Given the description of an element on the screen output the (x, y) to click on. 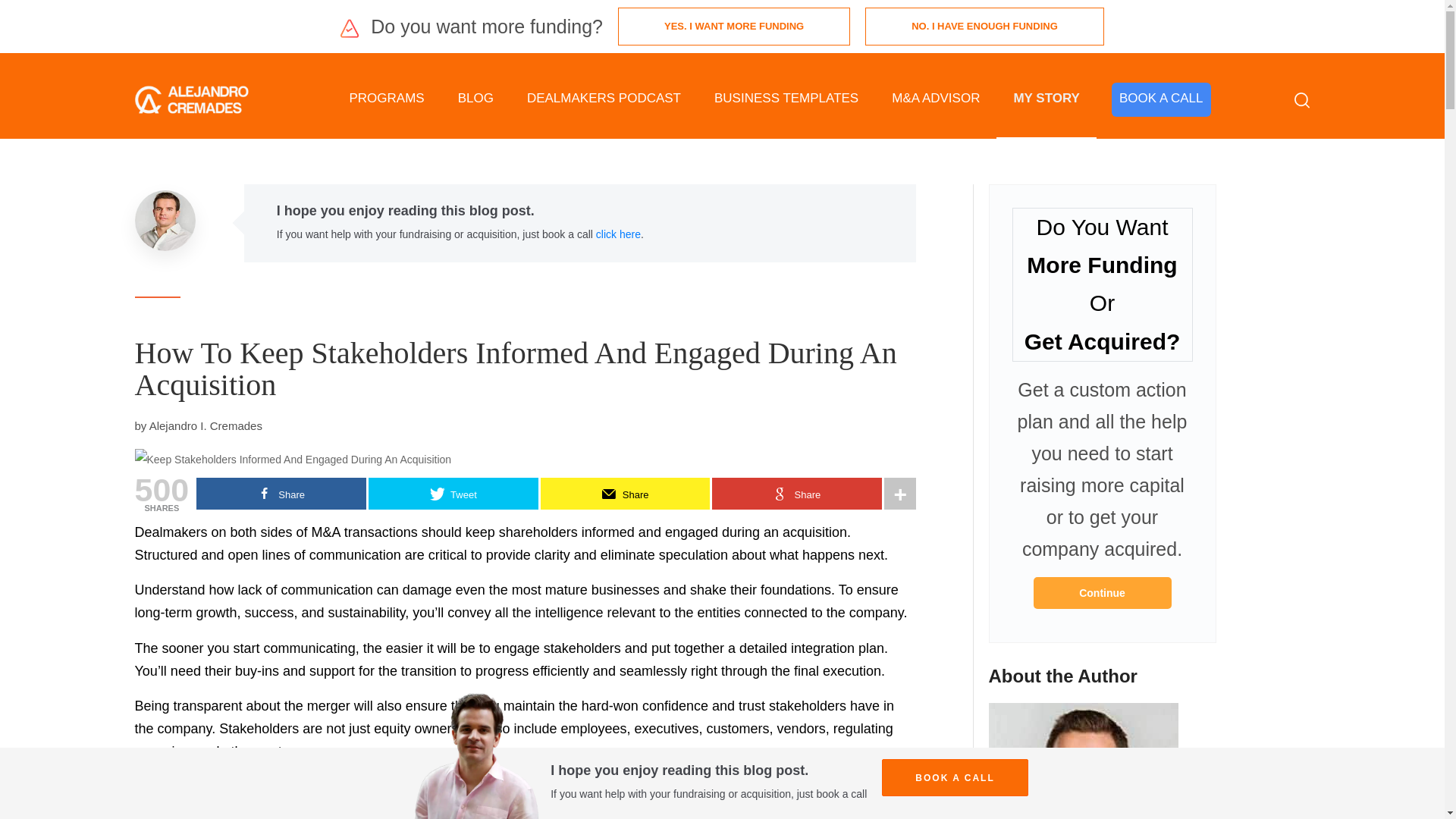
Art of Startup Fundraising (1101, 593)
BOOK A CALL (1161, 99)
click here (617, 234)
BUSINESS TEMPLATES (786, 99)
Share (796, 493)
PROGRAMS (386, 99)
NO. I HAVE ENOUGH FUNDING (983, 26)
DEALMAKERS PODCAST (604, 99)
Share (625, 493)
Share (281, 493)
MY STORY (1045, 99)
Tweet (453, 493)
Alejandro I. Cremades (205, 425)
Posts by Alejandro I. Cremades (205, 425)
YES. I WANT MORE FUNDING (733, 26)
